Given the description of an element on the screen output the (x, y) to click on. 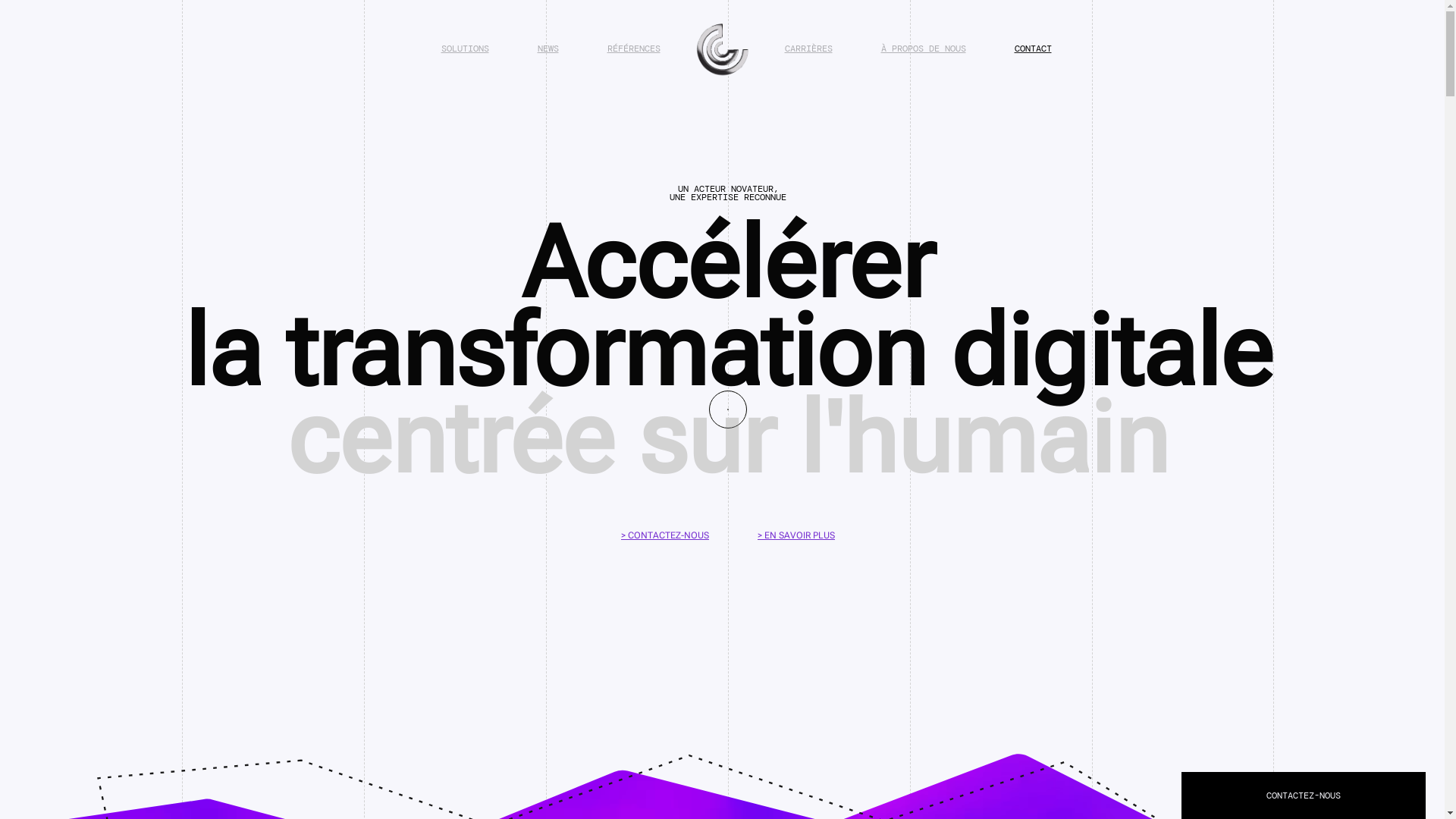
NEWS Element type: text (547, 48)
CONTACT Element type: text (1032, 48)
SERVICES Element type: text (971, 757)
TWITTER Element type: text (1239, 777)
> EN SAVOIR PLUS Element type: text (795, 535)
SOLUTIONS Element type: text (465, 48)
LINKEDIN Element type: text (1241, 717)
FACEBOOK Element type: text (1241, 757)
INSTAGRAM Element type: text (1244, 737)
VISION Element type: text (966, 717)
HELLO@CRONOSWALLONIA.BE Element type: text (626, 741)
MISSION Element type: text (968, 737)
> CONTACTEZ-NOUS Element type: text (665, 535)
